Given the description of an element on the screen output the (x, y) to click on. 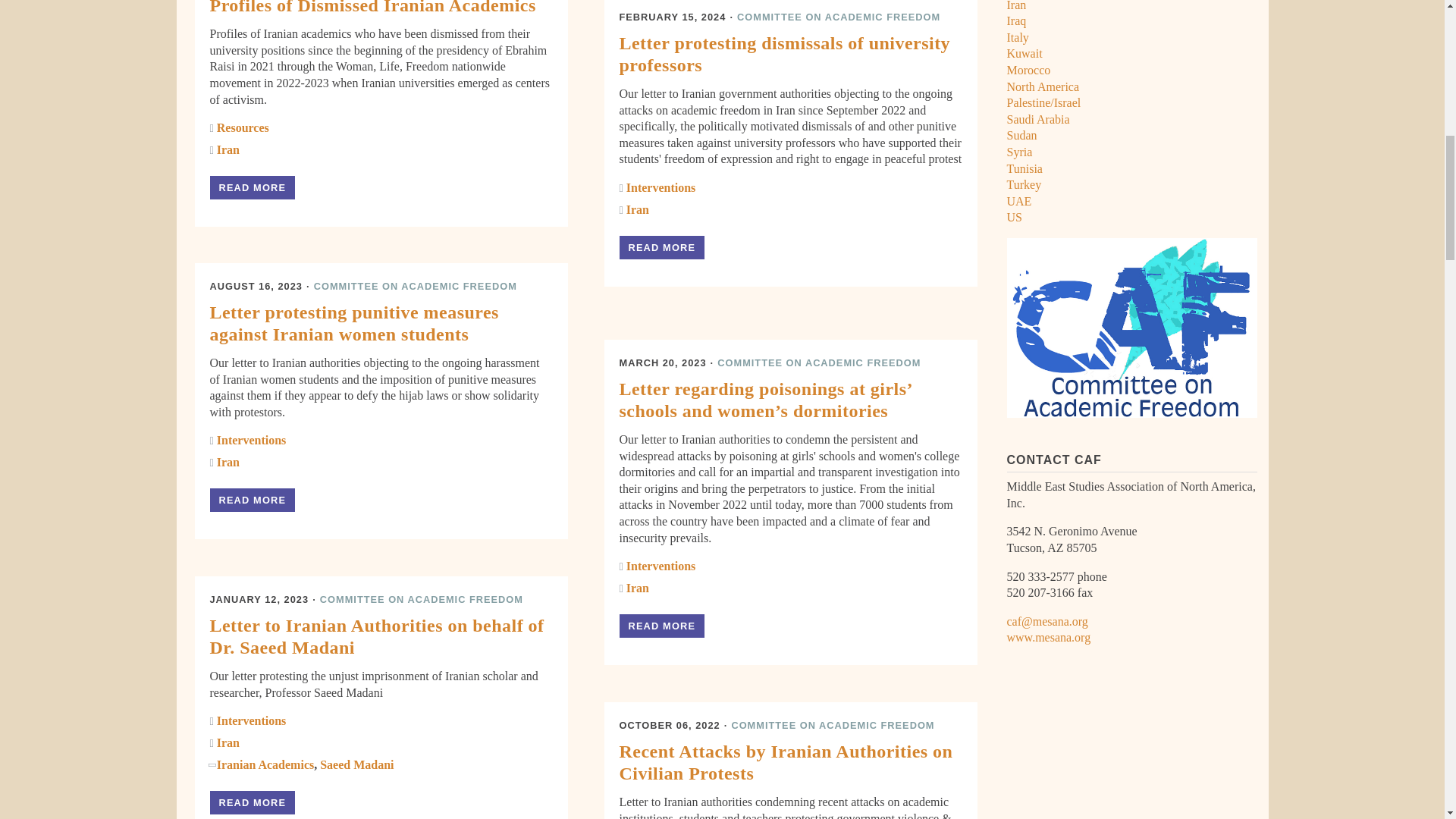
Letter to Iranian Authorities on behalf of Dr. Saeed Madani (252, 802)
Letter protesting dismissals of university professors (661, 247)
Profiles of Dismissed Iranian Academics (252, 187)
